Given the description of an element on the screen output the (x, y) to click on. 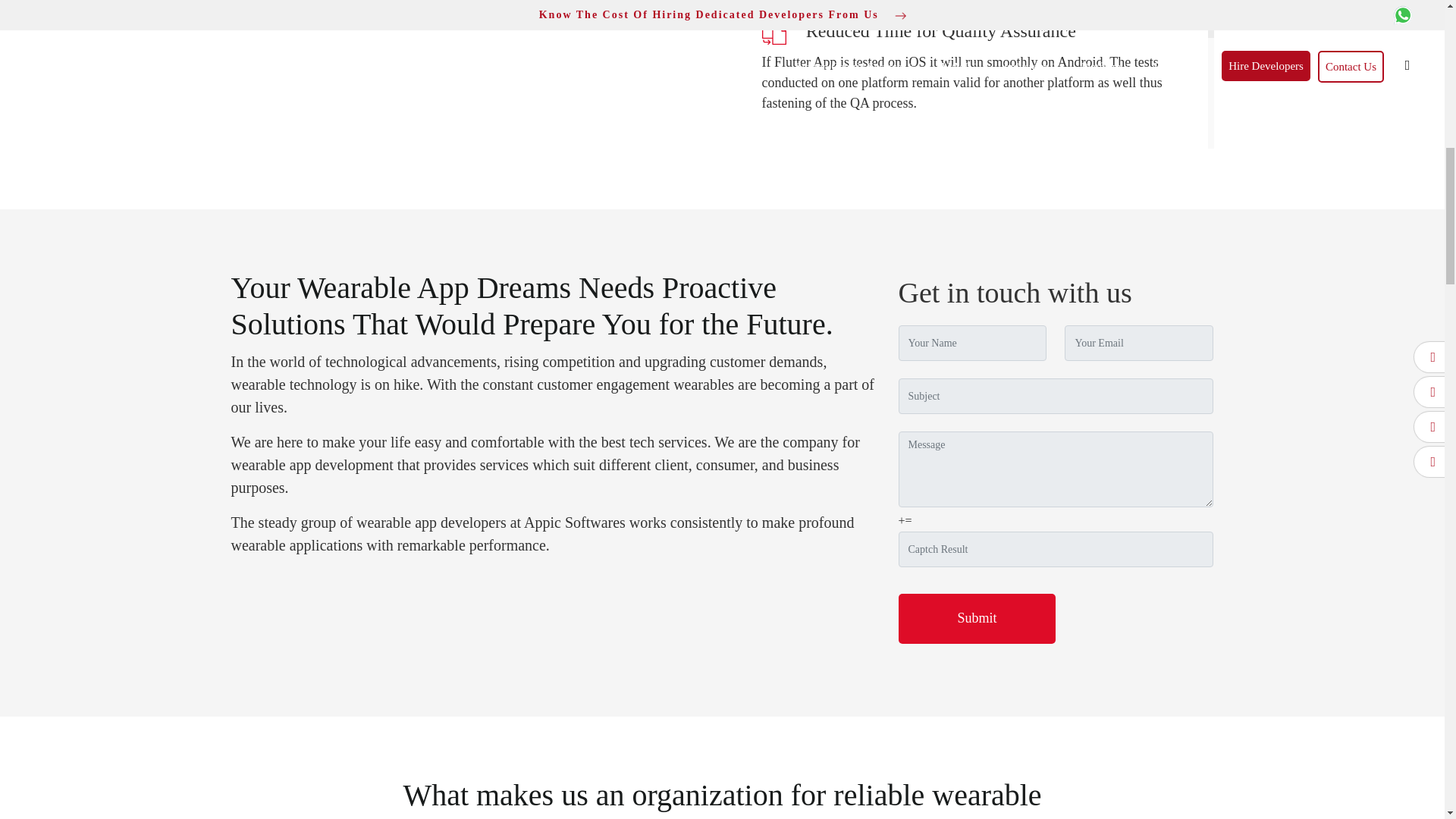
Submit (976, 618)
